Given the description of an element on the screen output the (x, y) to click on. 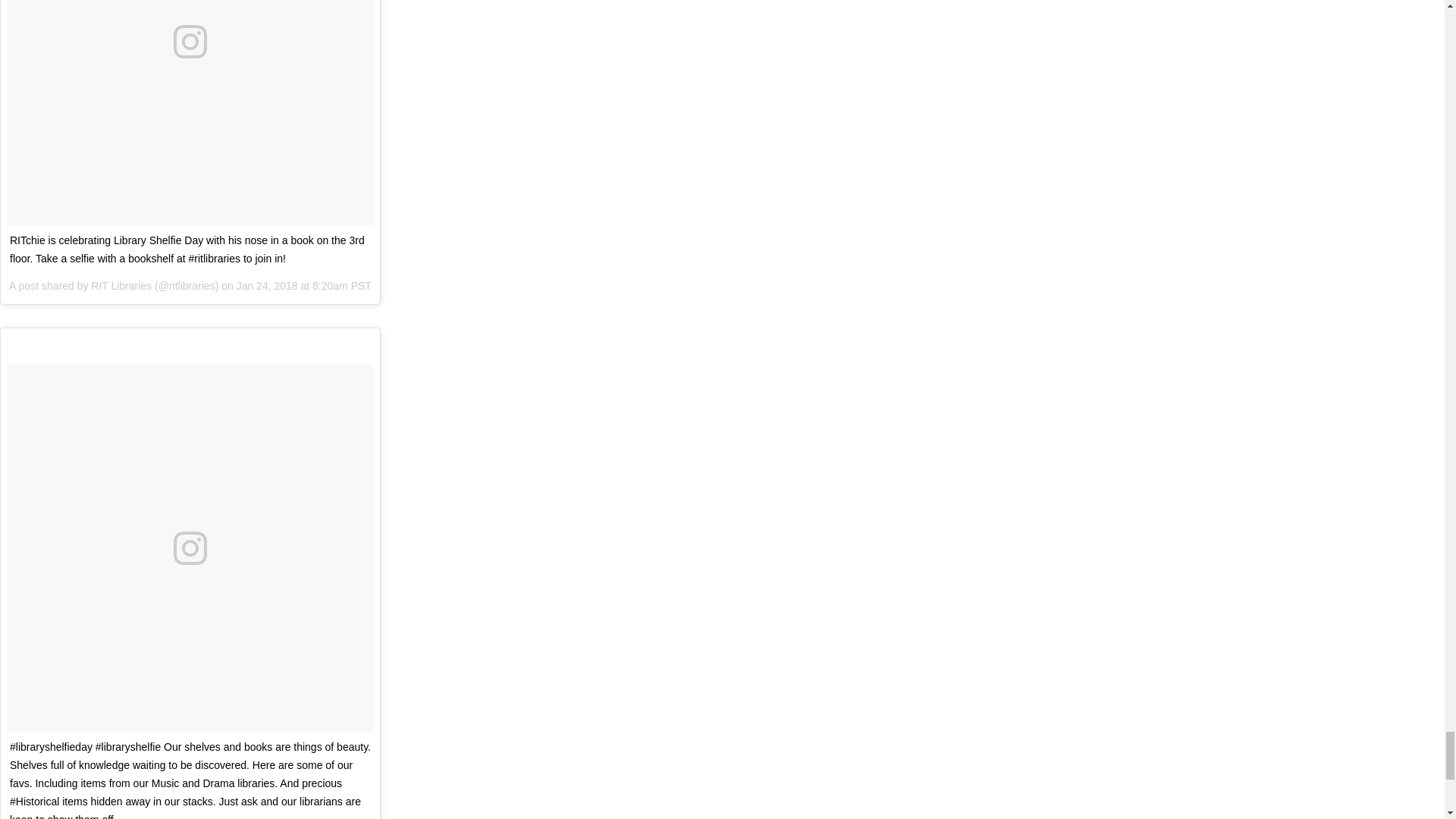
RIT Libraries (120, 285)
